Given the description of an element on the screen output the (x, y) to click on. 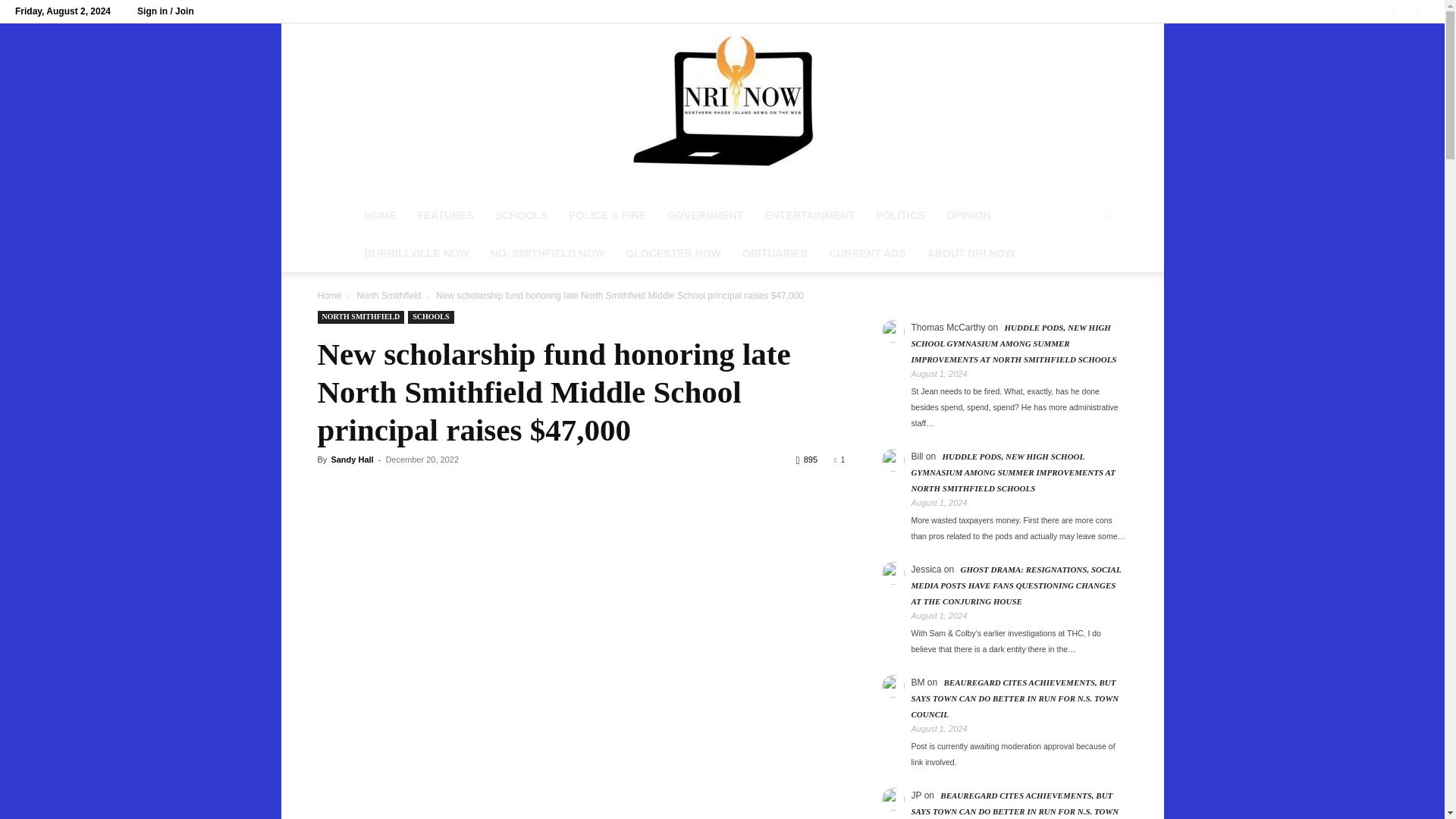
BURRILLVILLE NOW (416, 252)
POLITICS (900, 215)
HOME (379, 215)
SCHOOLS (520, 215)
GOVERNMENT (705, 215)
ENTERTAINMENT (809, 215)
FEATURES (444, 215)
OPINION (968, 215)
Twitter (1417, 11)
Facebook (1393, 11)
